Given the description of an element on the screen output the (x, y) to click on. 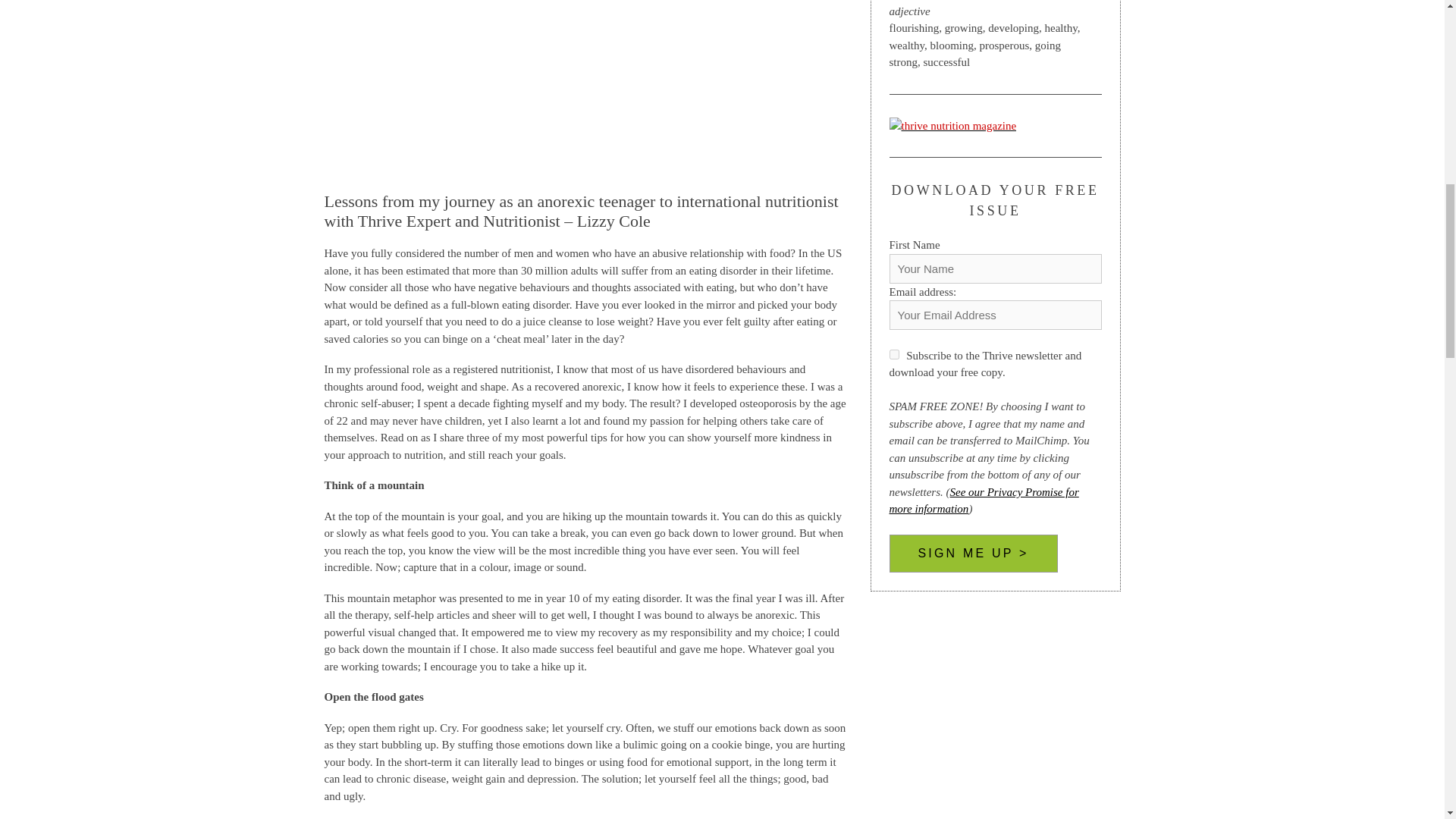
springipad2021 (952, 126)
Episode-22---Lizzy-Cole (585, 84)
1 (893, 354)
